Given the description of an element on the screen output the (x, y) to click on. 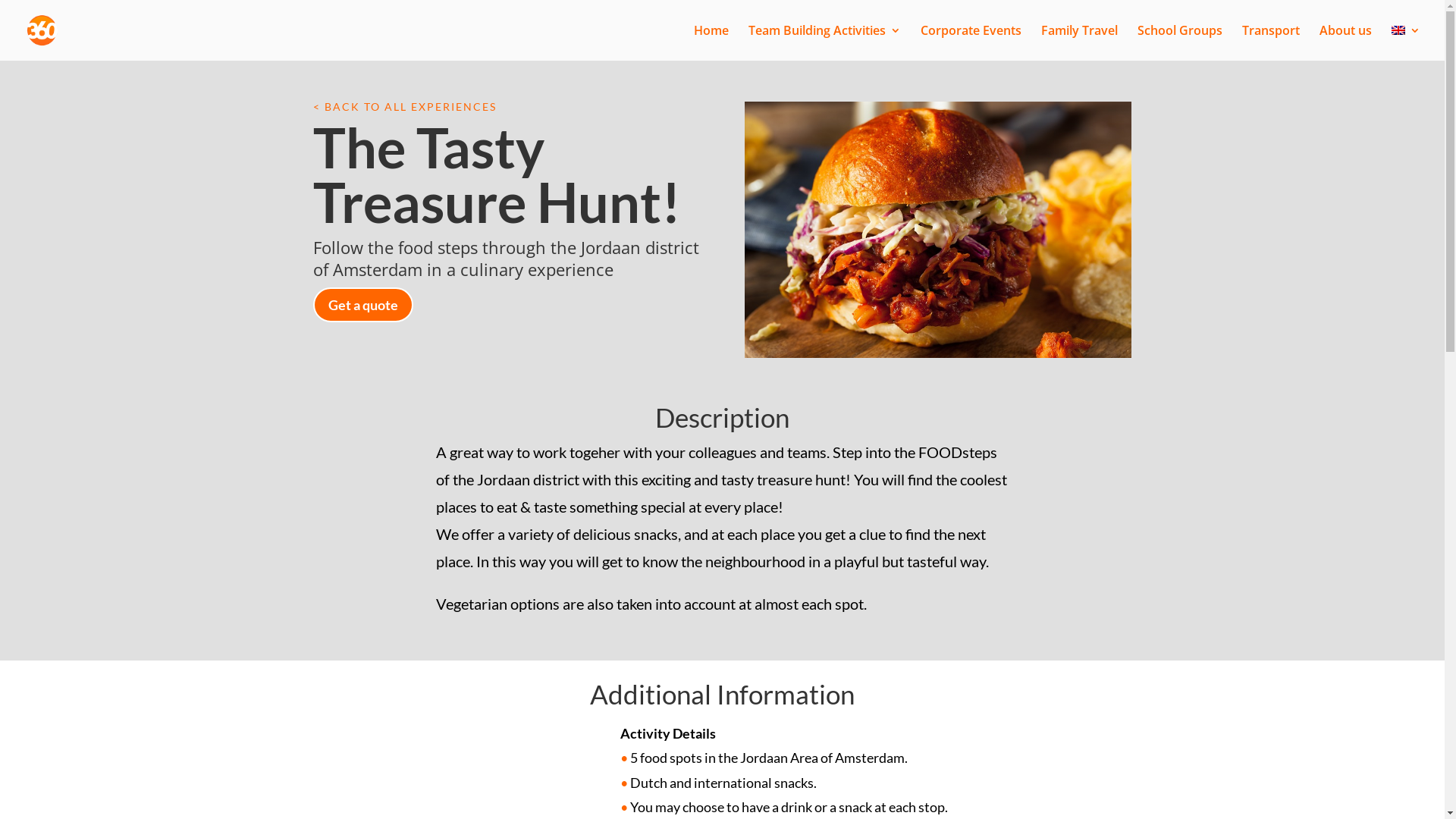
Transport Element type: text (1270, 42)
Corporate Events Element type: text (970, 42)
Team Building Activities Element type: text (824, 42)
< BACK TO ALL EXPERIENCES Element type: text (403, 106)
Home Element type: text (710, 42)
About us Element type: text (1345, 42)
Family Travel Element type: text (1079, 42)
Homemade Vegan Pulled Jackfruit BBQ Sandwich Element type: hover (937, 229)
Get a quote Element type: text (362, 304)
School Groups Element type: text (1179, 42)
